Given the description of an element on the screen output the (x, y) to click on. 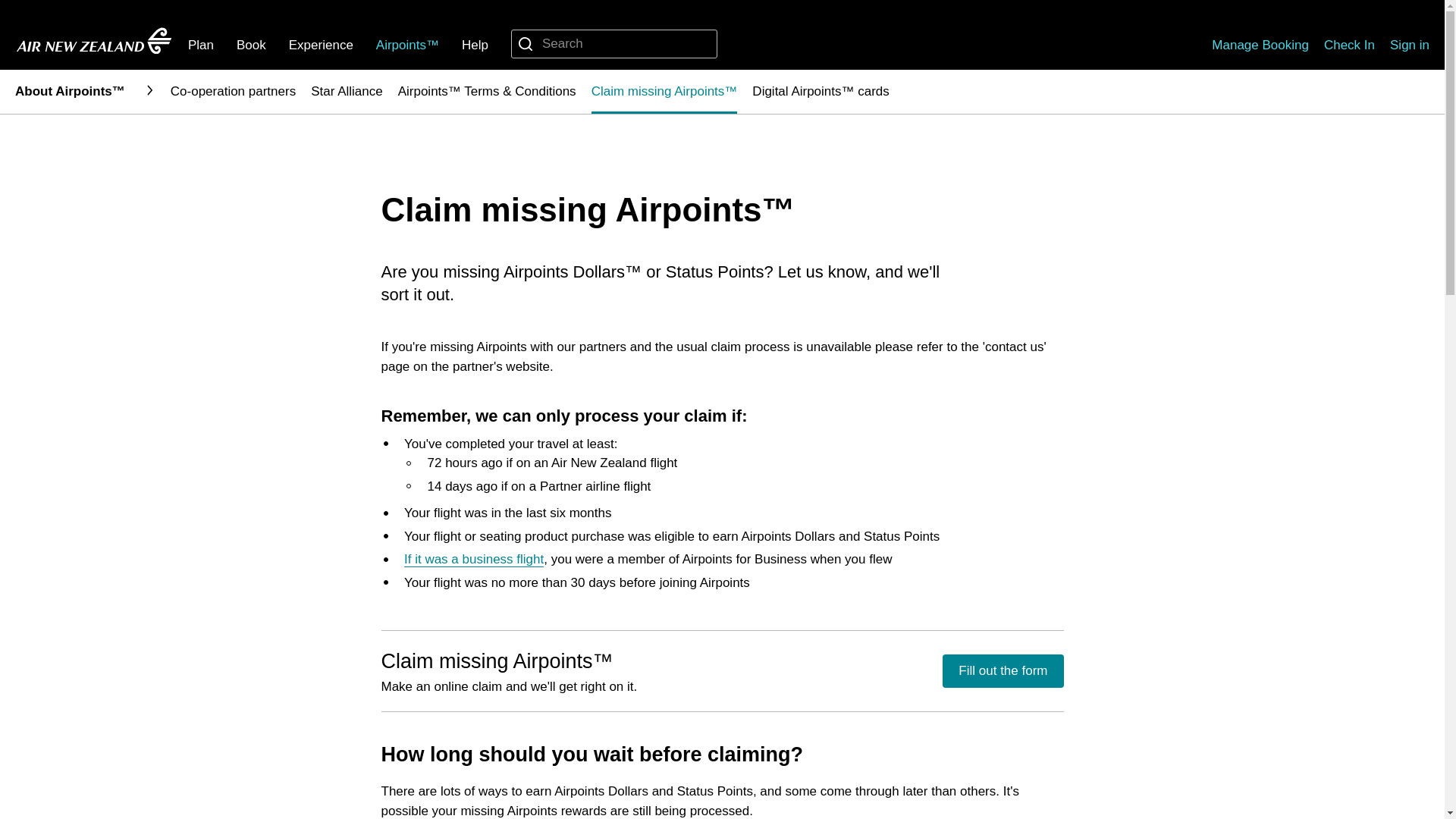
Plan (200, 44)
